Given the description of an element on the screen output the (x, y) to click on. 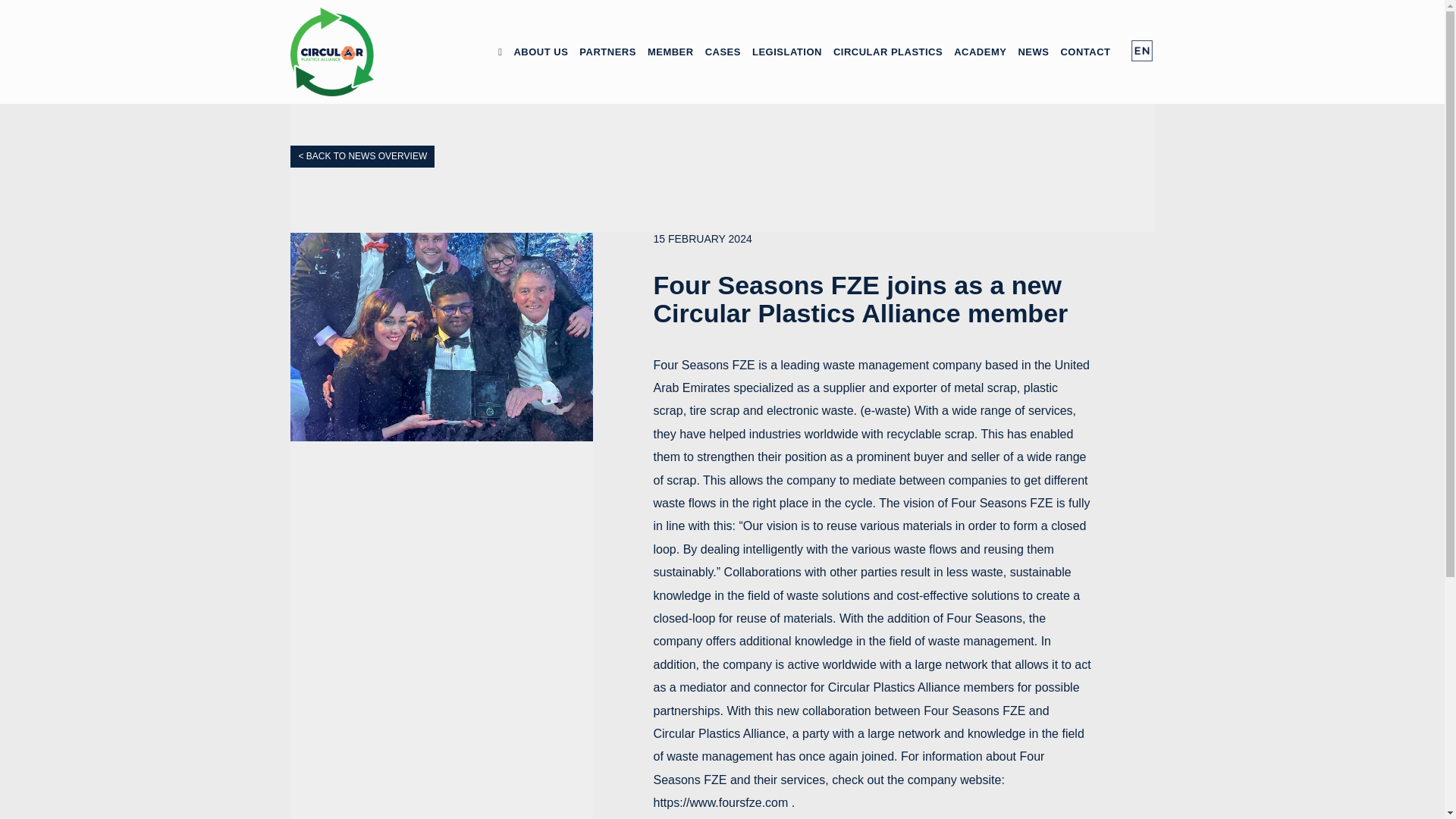
CONTACT (1085, 52)
CIRCULAR PLASTICS (887, 52)
PARTNERS (607, 52)
ACADEMY (980, 52)
ABOUT US (540, 52)
CASES (722, 52)
LEGISLATION (786, 52)
NEWS (1032, 52)
MEMBER (670, 52)
